Given the description of an element on the screen output the (x, y) to click on. 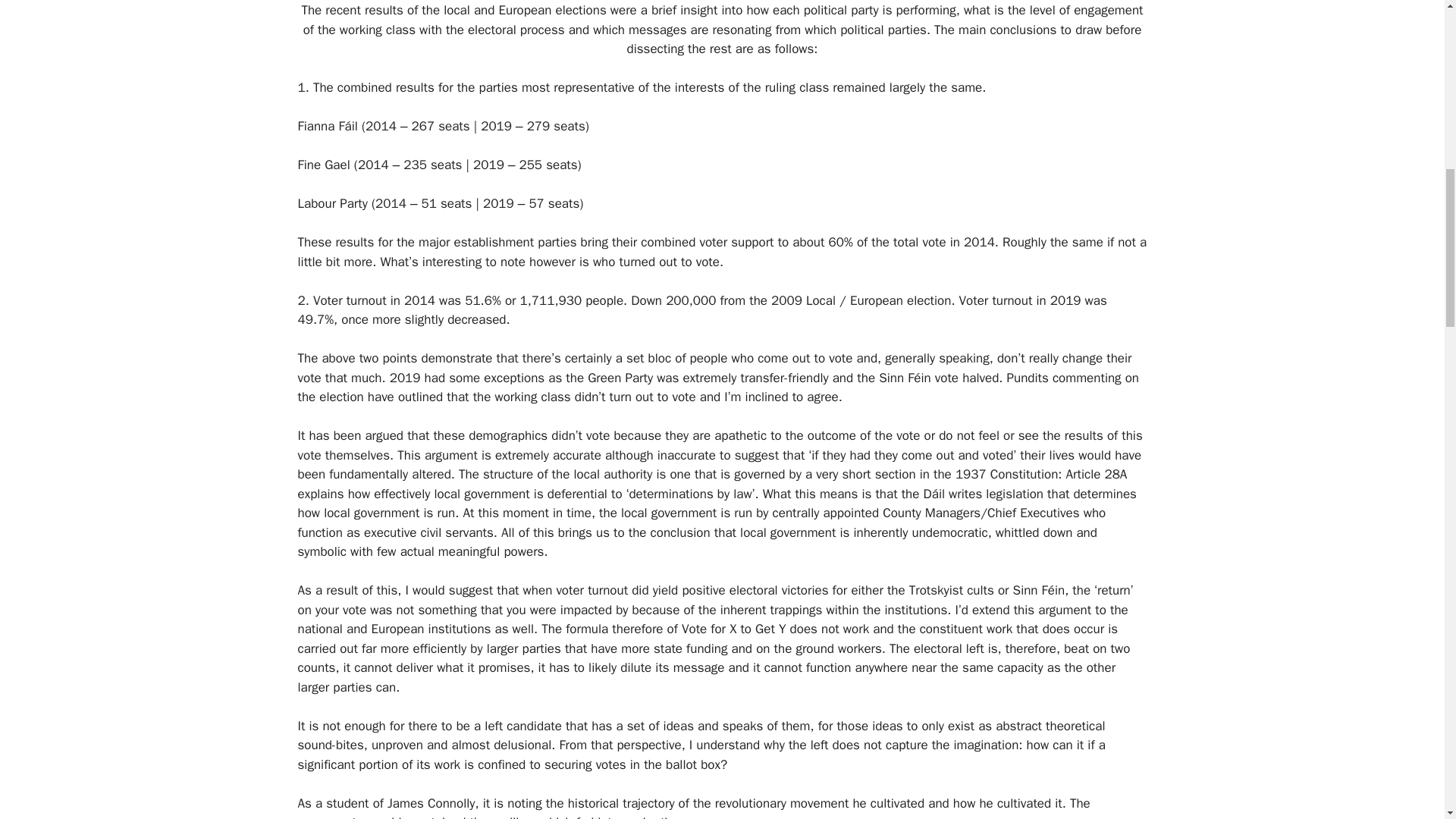
Scroll back to top (1406, 720)
